Given the description of an element on the screen output the (x, y) to click on. 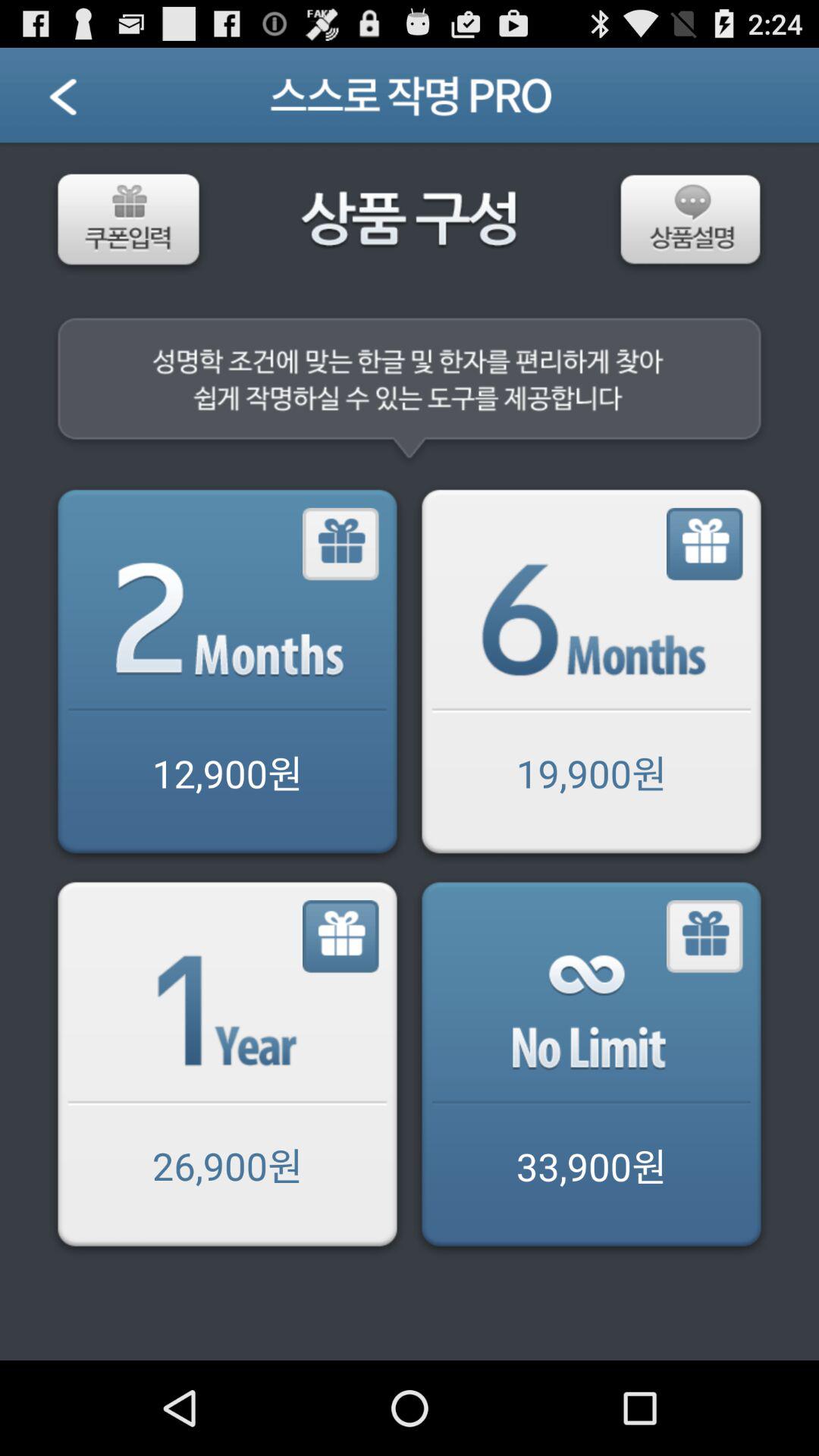
select 1 year gift option (340, 936)
